Given the description of an element on the screen output the (x, y) to click on. 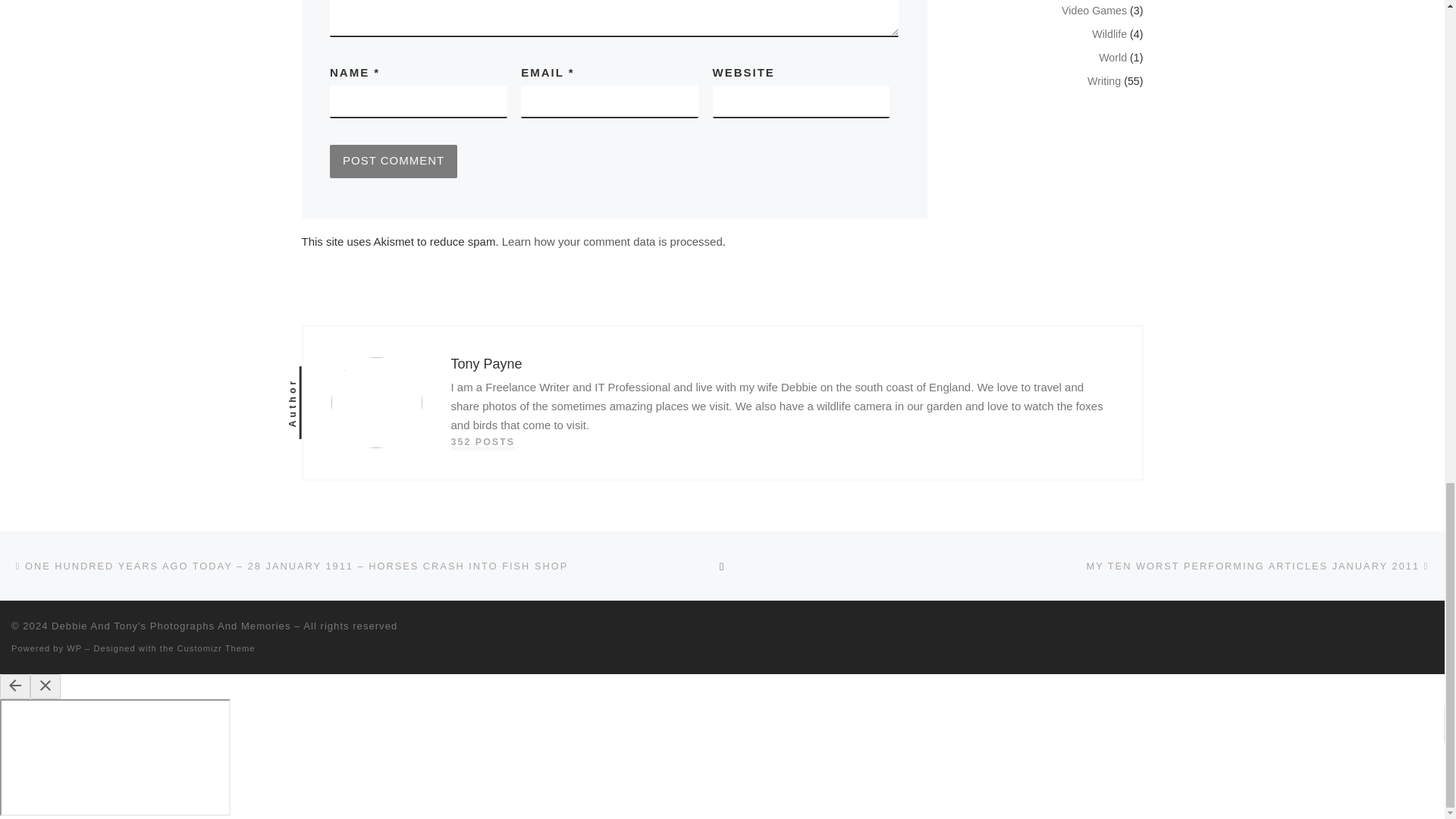
Post Comment (393, 161)
